Given the description of an element on the screen output the (x, y) to click on. 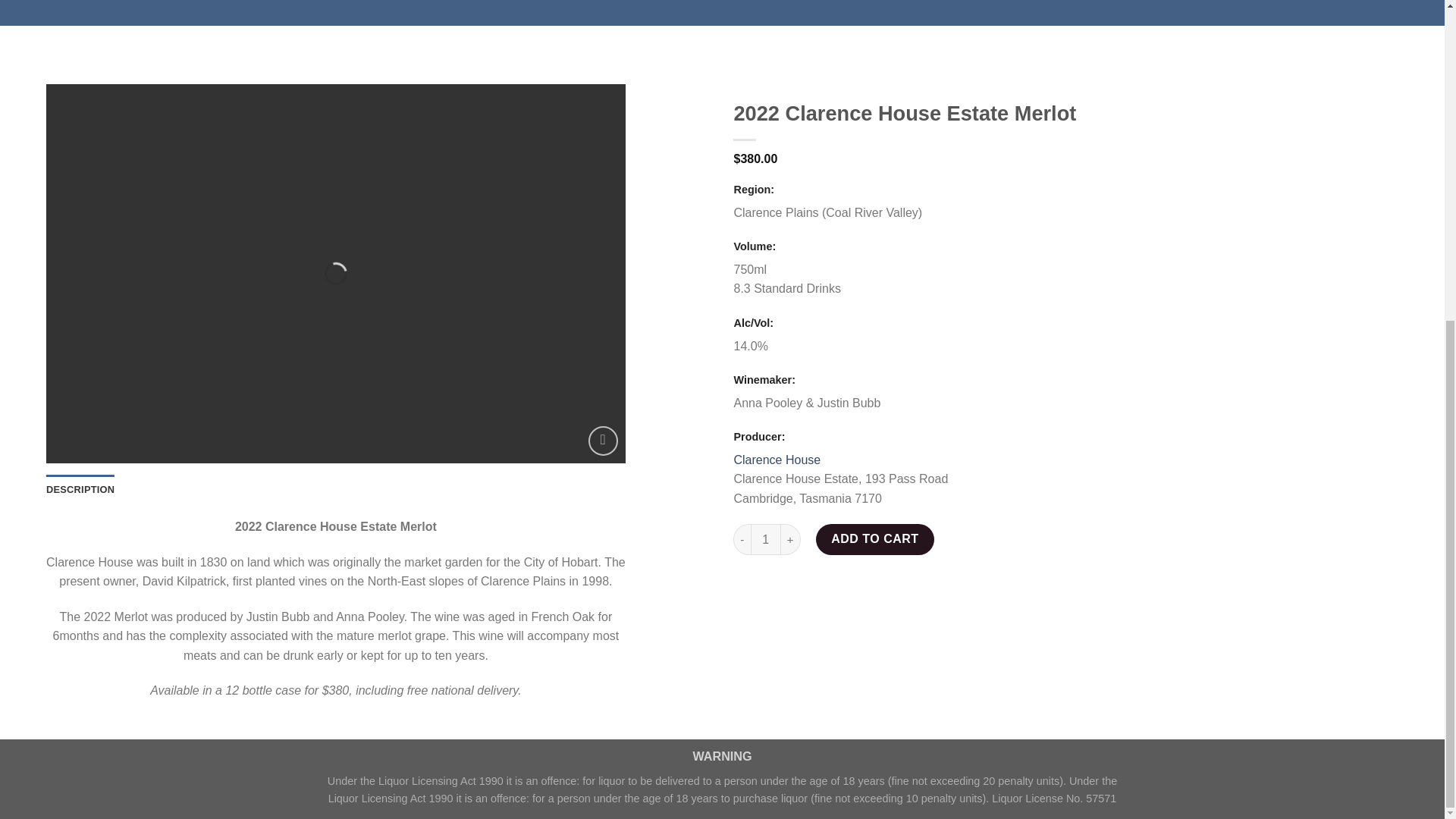
Clarence House (777, 459)
DESCRIPTION (80, 490)
Zoom (602, 440)
ADD TO CART (874, 539)
1 (765, 539)
Qty (765, 539)
